Given the description of an element on the screen output the (x, y) to click on. 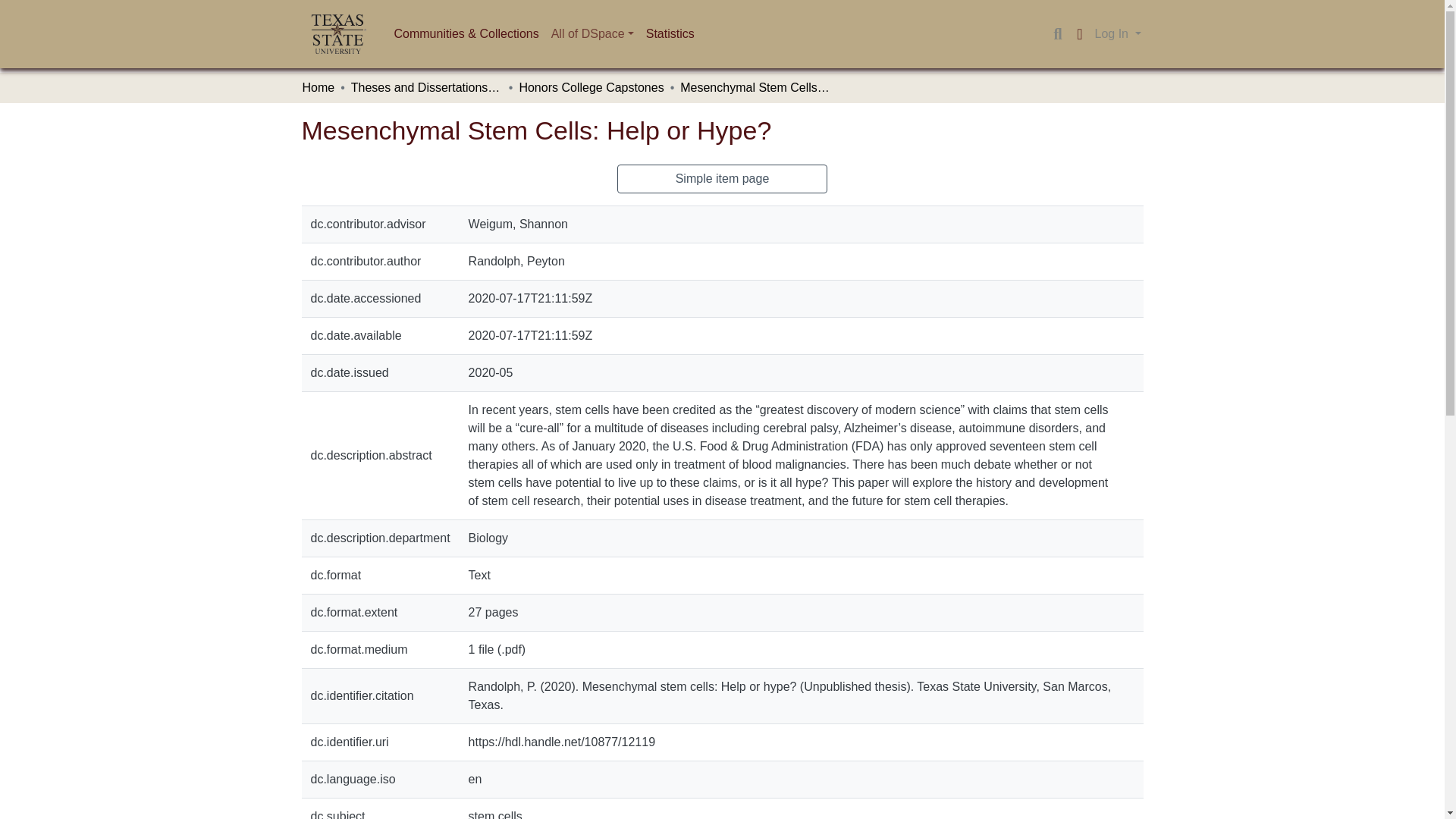
Search (1057, 34)
Simple item page (722, 178)
All of DSpace (592, 33)
Language switch (1079, 34)
Log In (1117, 33)
Home (317, 87)
Statistics (670, 33)
Honors College Capstones (590, 87)
Theses and Dissertations, Capstones, and Directed Research (426, 87)
Statistics (670, 33)
